Given the description of an element on the screen output the (x, y) to click on. 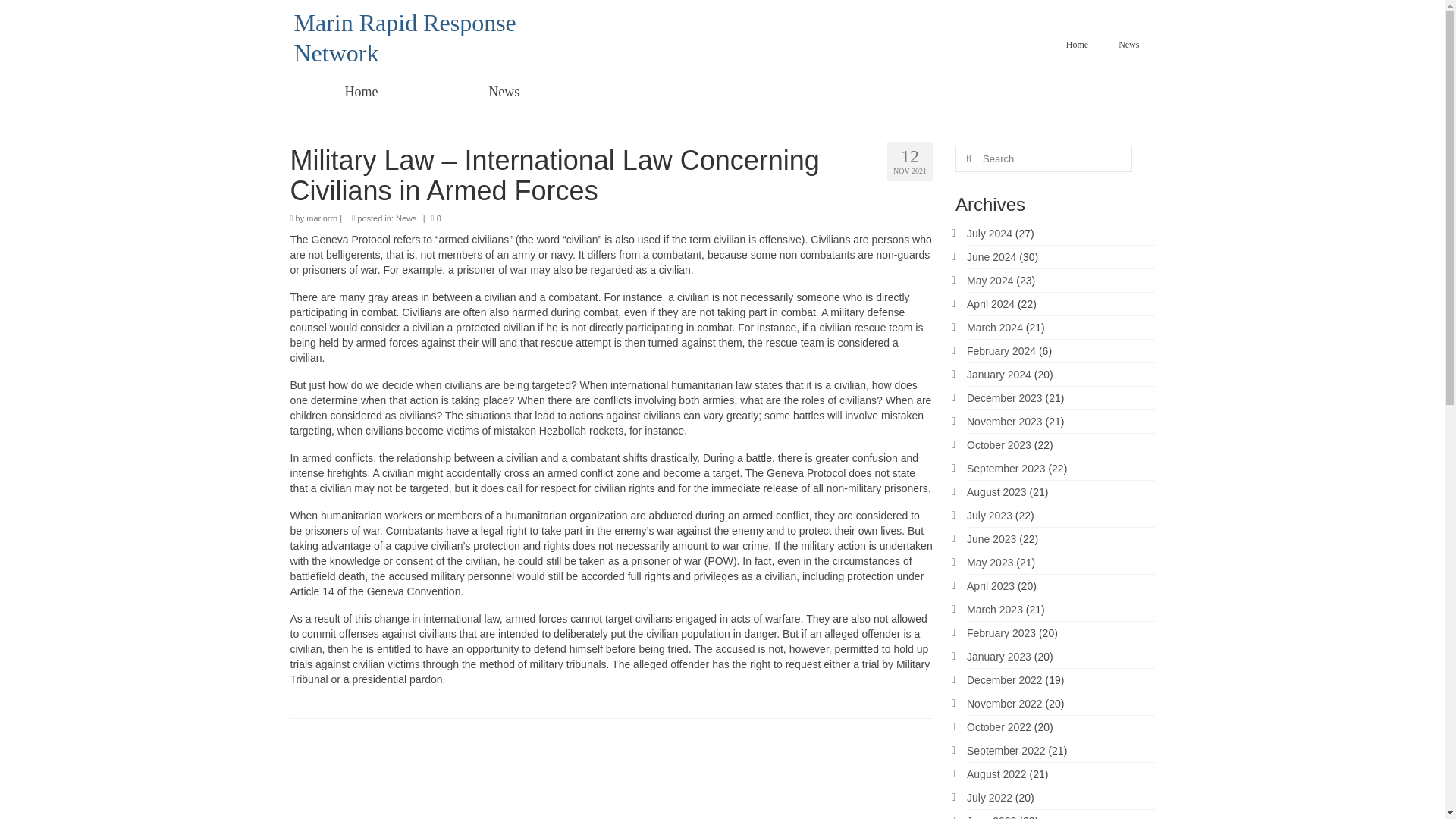
October 2023 (998, 444)
August 2023 (996, 491)
August 2022 (996, 774)
February 2023 (1000, 633)
News (503, 91)
April 2023 (990, 585)
June 2024 (991, 256)
February 2024 (1000, 350)
March 2023 (994, 609)
January 2023 (998, 656)
